Given the description of an element on the screen output the (x, y) to click on. 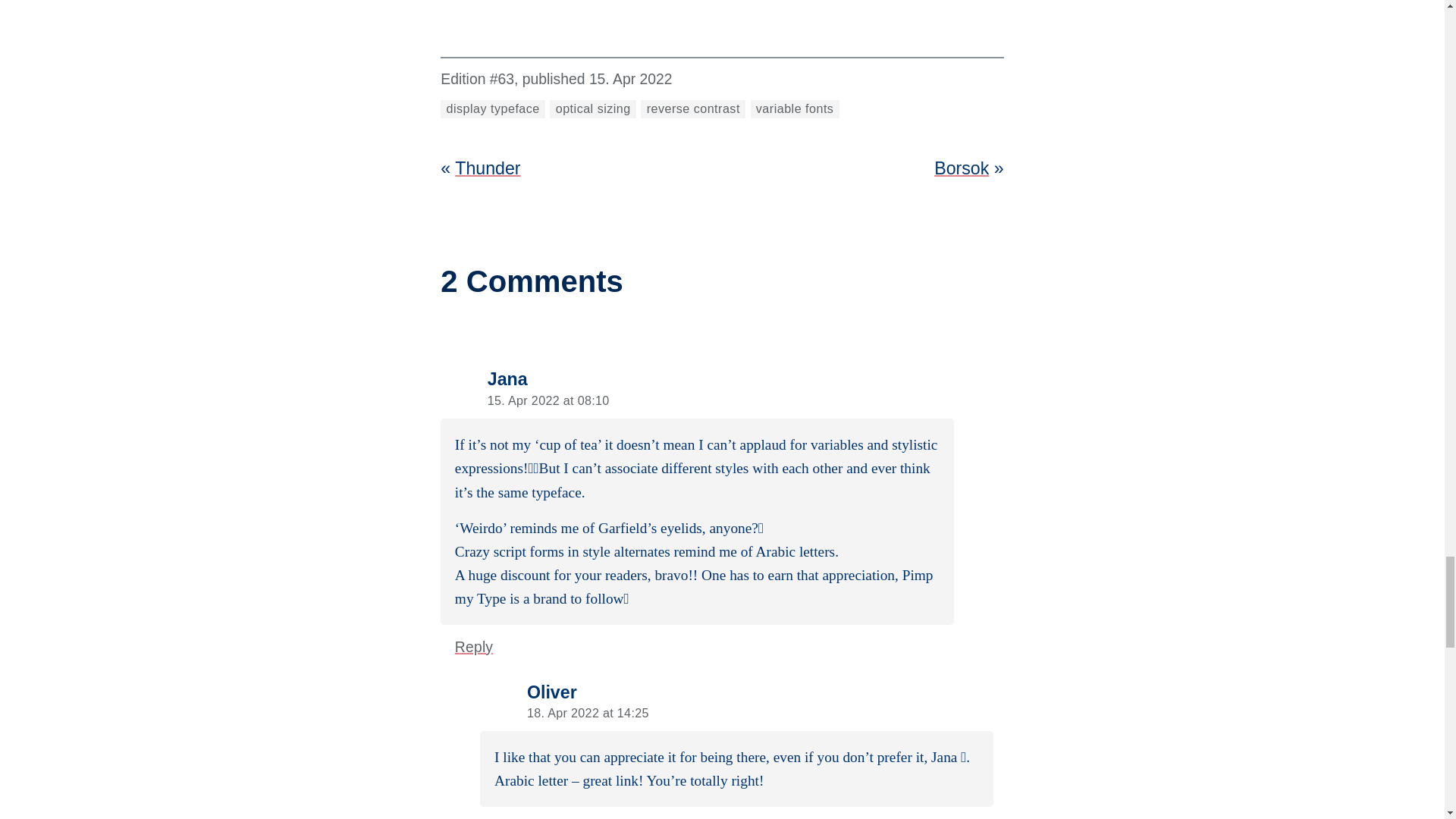
15. Apr 2022 at 08:10 (548, 400)
Jana (507, 379)
reverse contrast (692, 108)
Oliver (551, 691)
display typeface (492, 108)
Thunder (486, 168)
variable fonts (795, 108)
Borsok (961, 168)
optical sizing (592, 108)
18. Apr 2022 at 14:25 (588, 712)
Reply (473, 647)
